Given the description of an element on the screen output the (x, y) to click on. 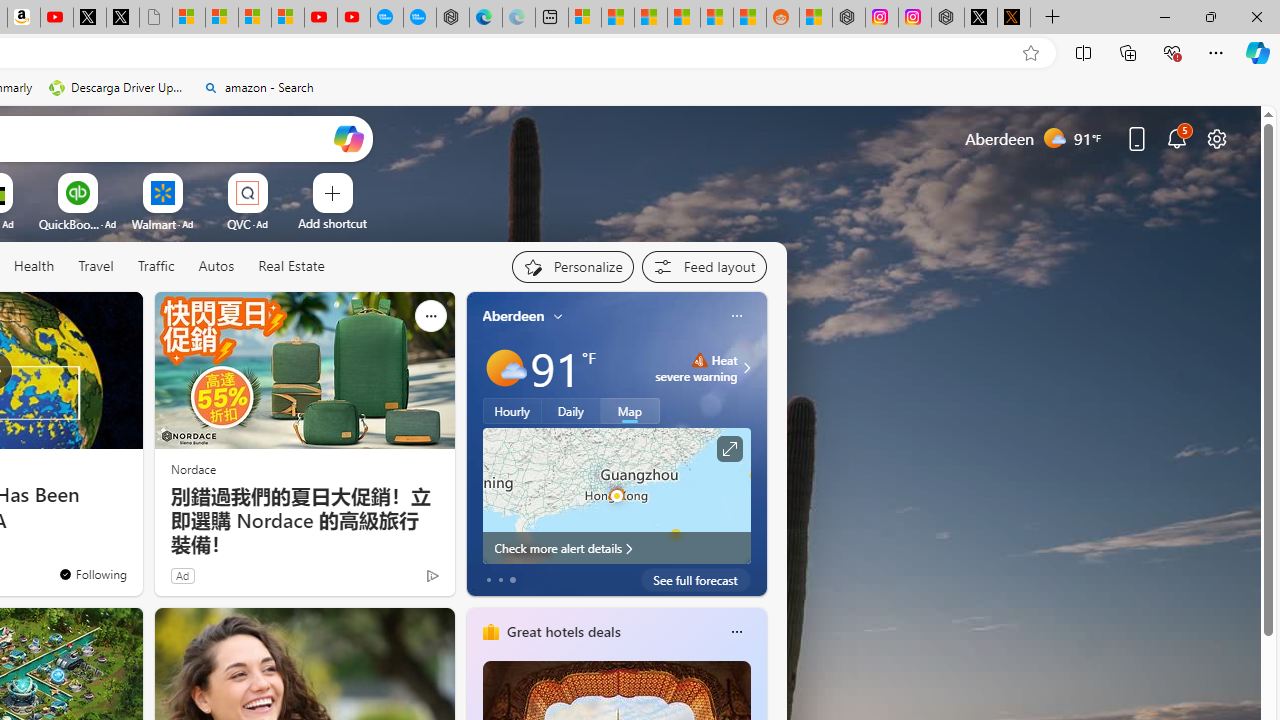
tab-2 (511, 579)
Larger map  (616, 495)
Hourly (511, 411)
See full forecast (695, 579)
Autos (215, 265)
tab-0 (488, 579)
Mostly sunny (504, 368)
Shanghai, China hourly forecast | Microsoft Weather (650, 17)
